Given the description of an element on the screen output the (x, y) to click on. 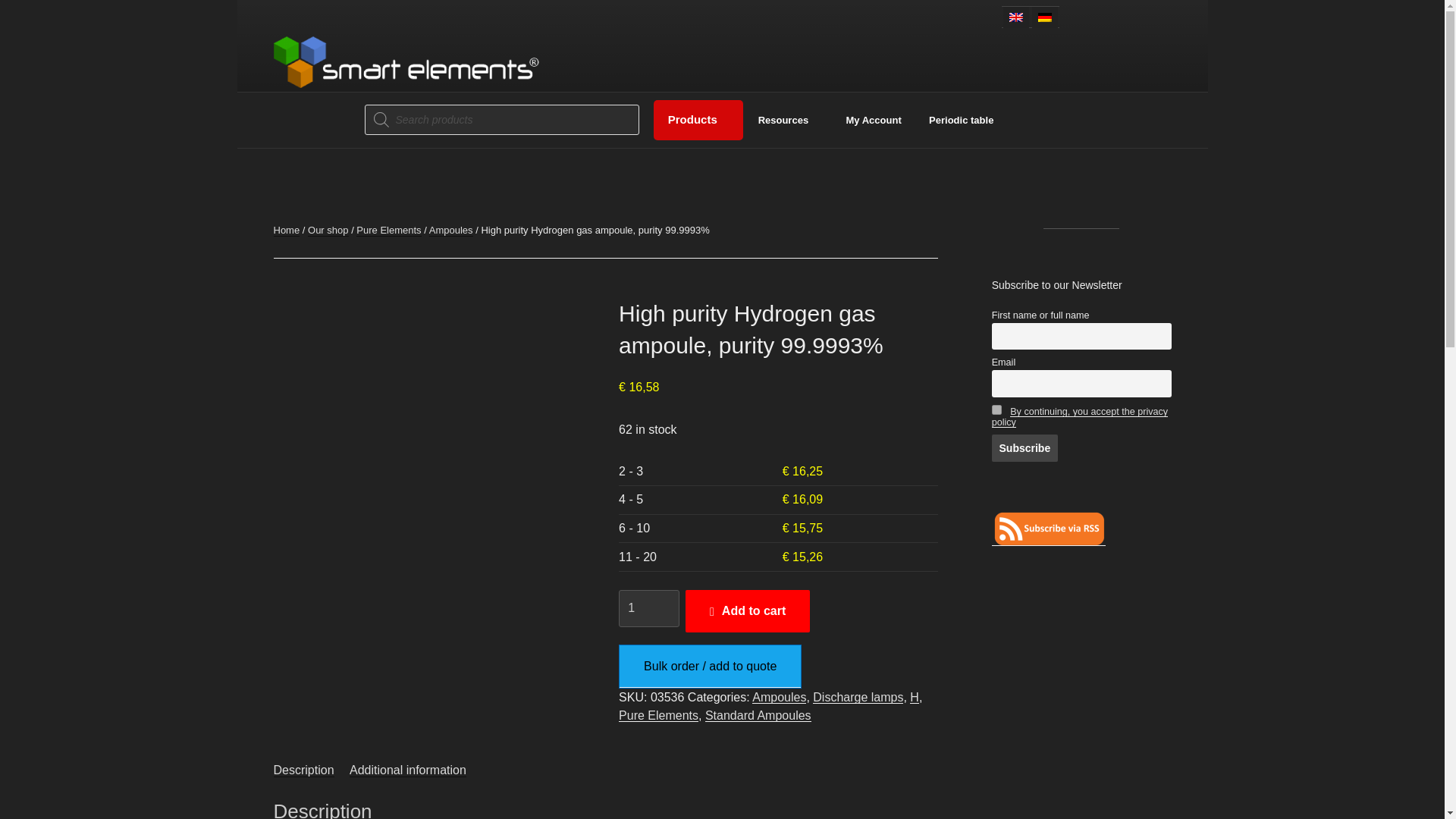
Ampoules (451, 229)
Pure Elements (388, 229)
Add to cart (747, 610)
My Account (873, 120)
Home (286, 229)
Periodic table (961, 120)
Subscribe (1024, 447)
1 (648, 607)
Resources (787, 120)
Products (697, 119)
Our shop (327, 229)
on (996, 409)
